Given the description of an element on the screen output the (x, y) to click on. 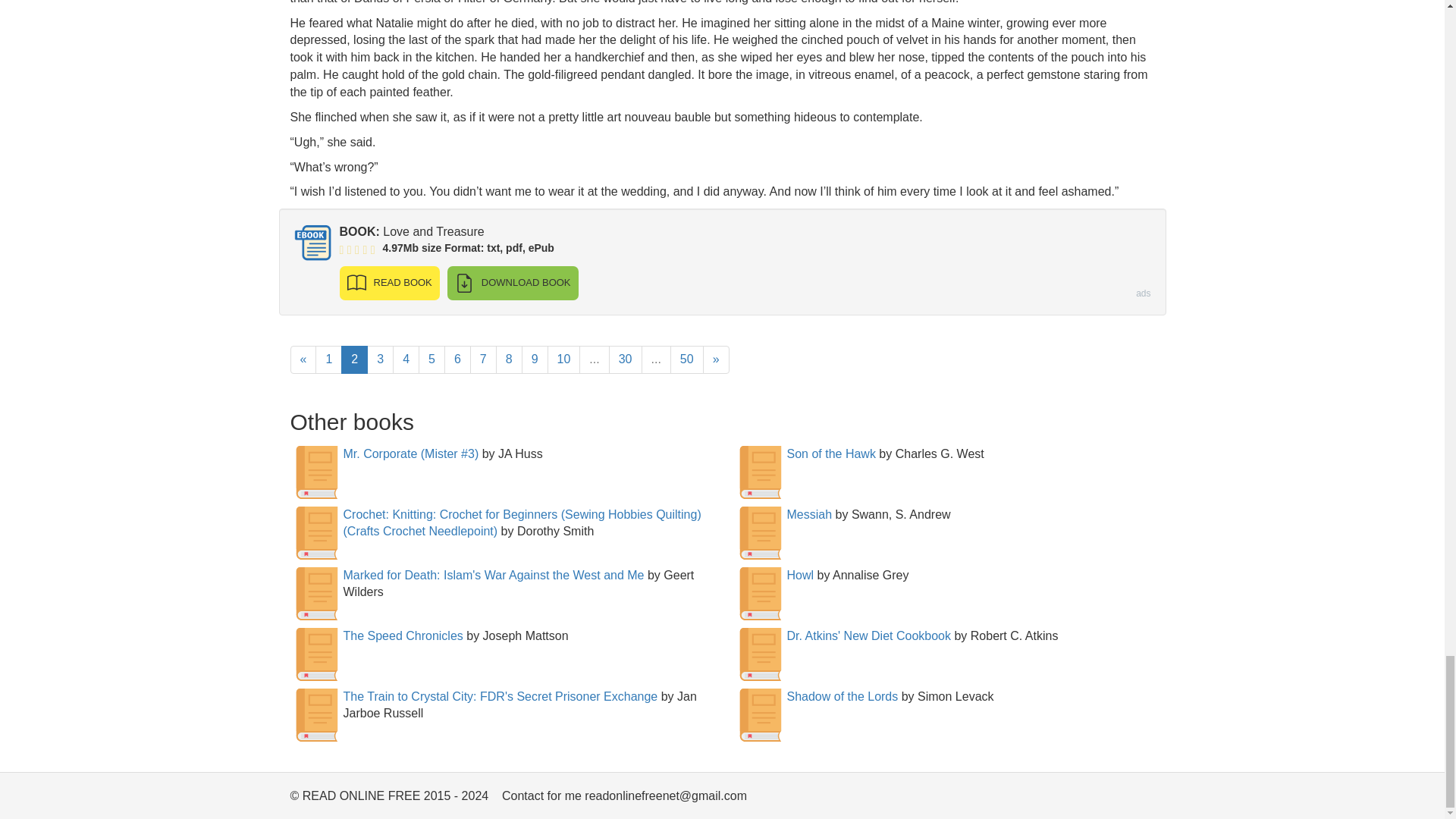
7 (483, 359)
2 (354, 359)
READ BOOK (389, 283)
LiveInternet (1142, 799)
4 (406, 359)
6 (457, 359)
3 (379, 359)
9 (534, 359)
1 (328, 359)
10 (563, 359)
Son of the Hawk (831, 453)
DOWNLOAD BOOK (512, 283)
30 (625, 359)
5 (432, 359)
8 (509, 359)
